Given the description of an element on the screen output the (x, y) to click on. 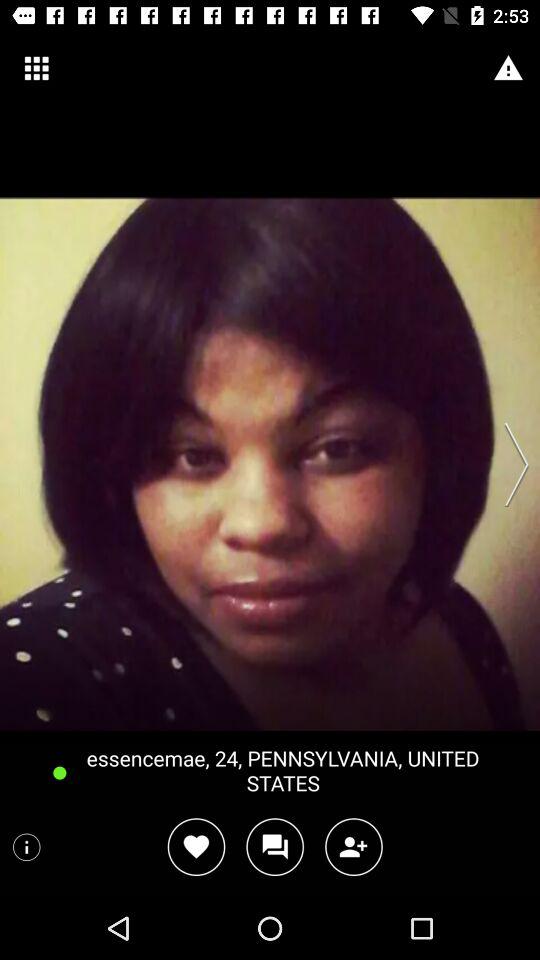
open the icon at the top right corner (508, 67)
